Given the description of an element on the screen output the (x, y) to click on. 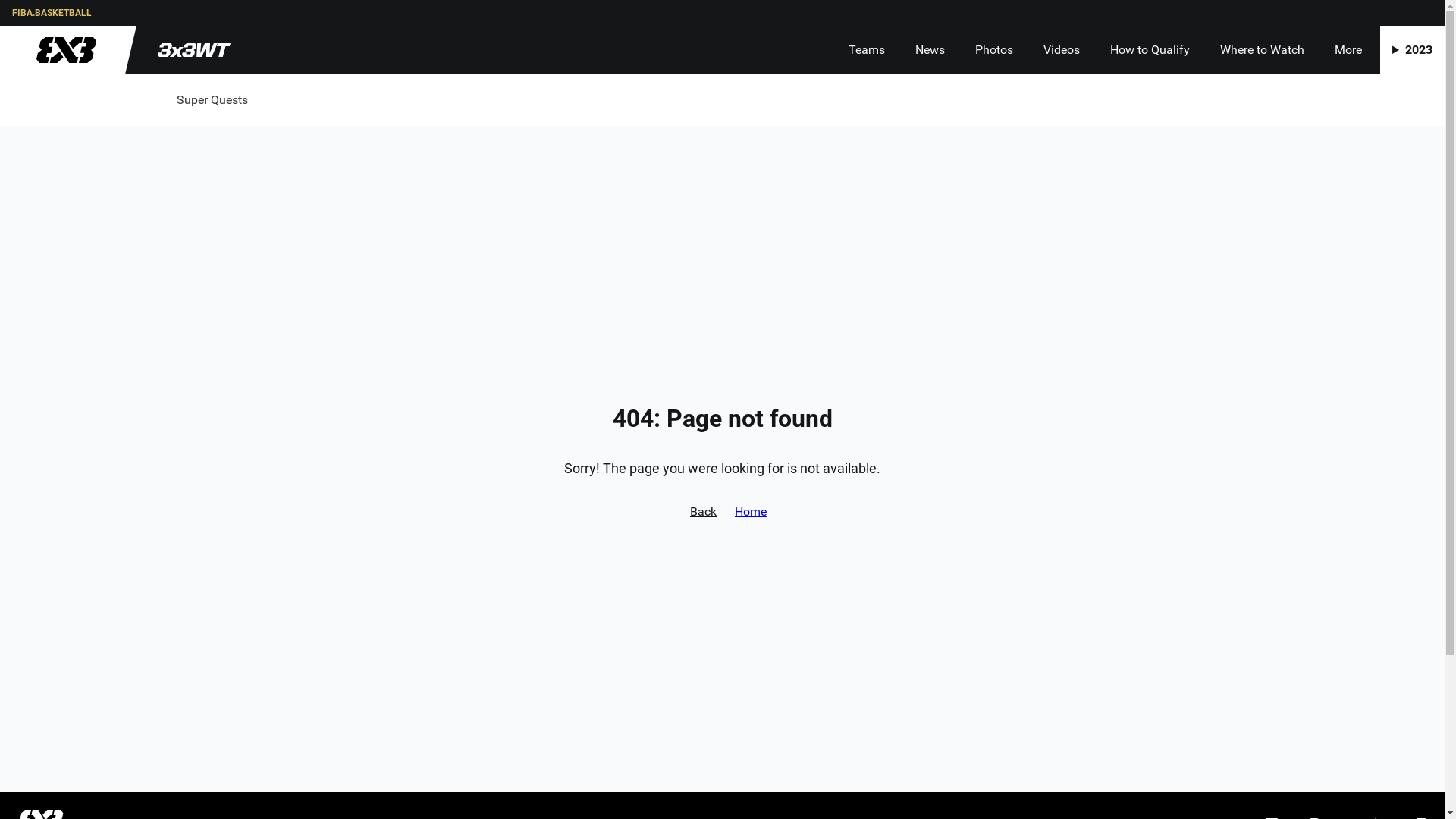
Skip to content. Element type: text (24, 12)
Videos Element type: text (1061, 49)
Home Element type: text (750, 510)
Teams Element type: text (866, 49)
Super Quests Element type: text (211, 99)
Photos Element type: text (994, 49)
News Element type: text (930, 49)
How to Qualify Element type: text (1149, 49)
FIBA.BASKETBALL Element type: text (51, 12)
Back Element type: text (702, 510)
Where to Watch Element type: text (1262, 49)
More Element type: text (1348, 49)
